Given the description of an element on the screen output the (x, y) to click on. 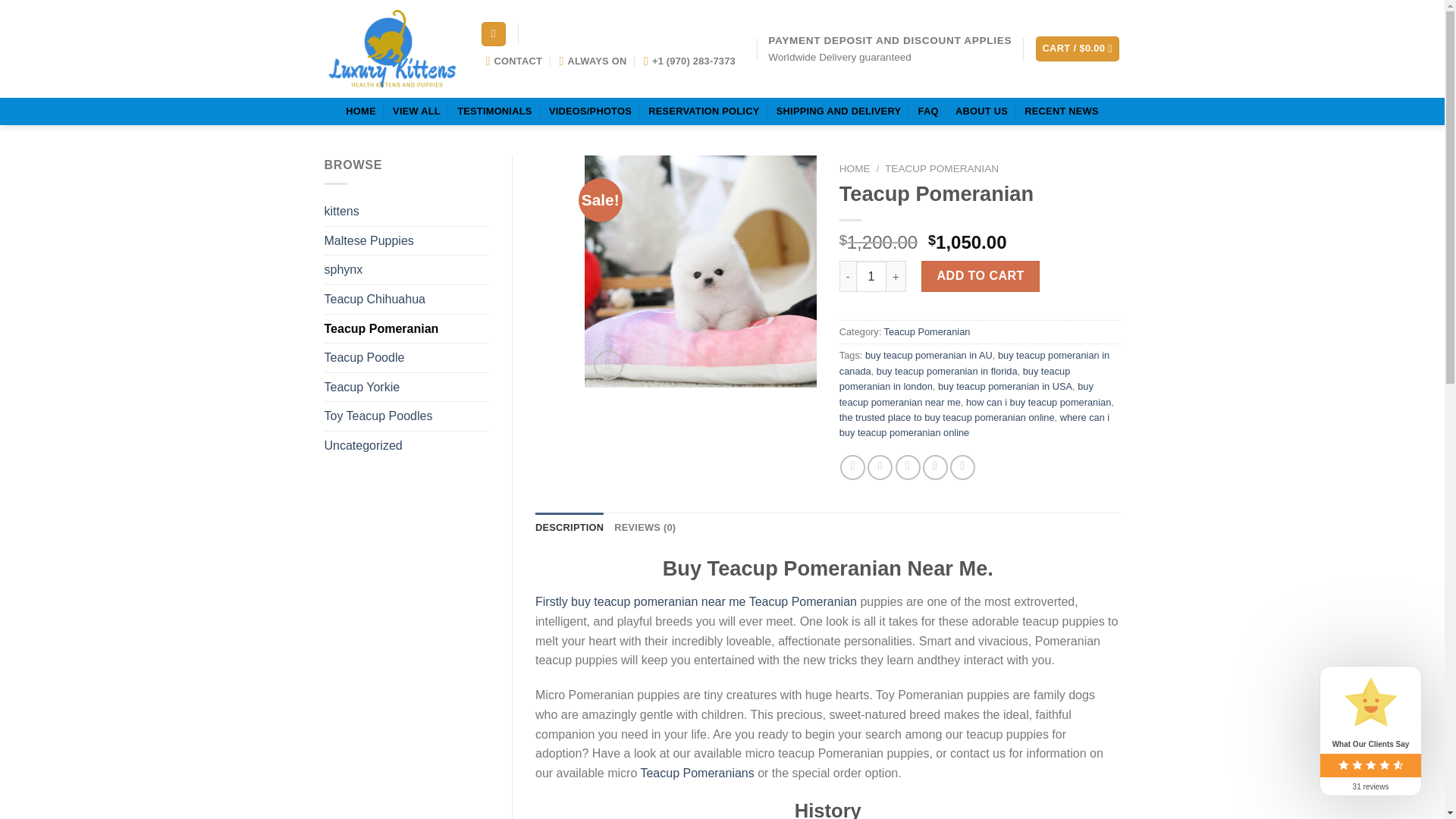
Teacup Yorkie (406, 387)
1 (871, 276)
Teacup Chihuahua (406, 299)
CONTACT (512, 60)
FAQ (928, 111)
Pomeranian (700, 271)
Qty (871, 276)
sphynx (406, 269)
kittens (406, 211)
- (848, 276)
TEACUP POMERANIAN (941, 168)
Uncategorized (406, 445)
Pomeranian (1164, 271)
Maltese Puppies (406, 240)
